Given the description of an element on the screen output the (x, y) to click on. 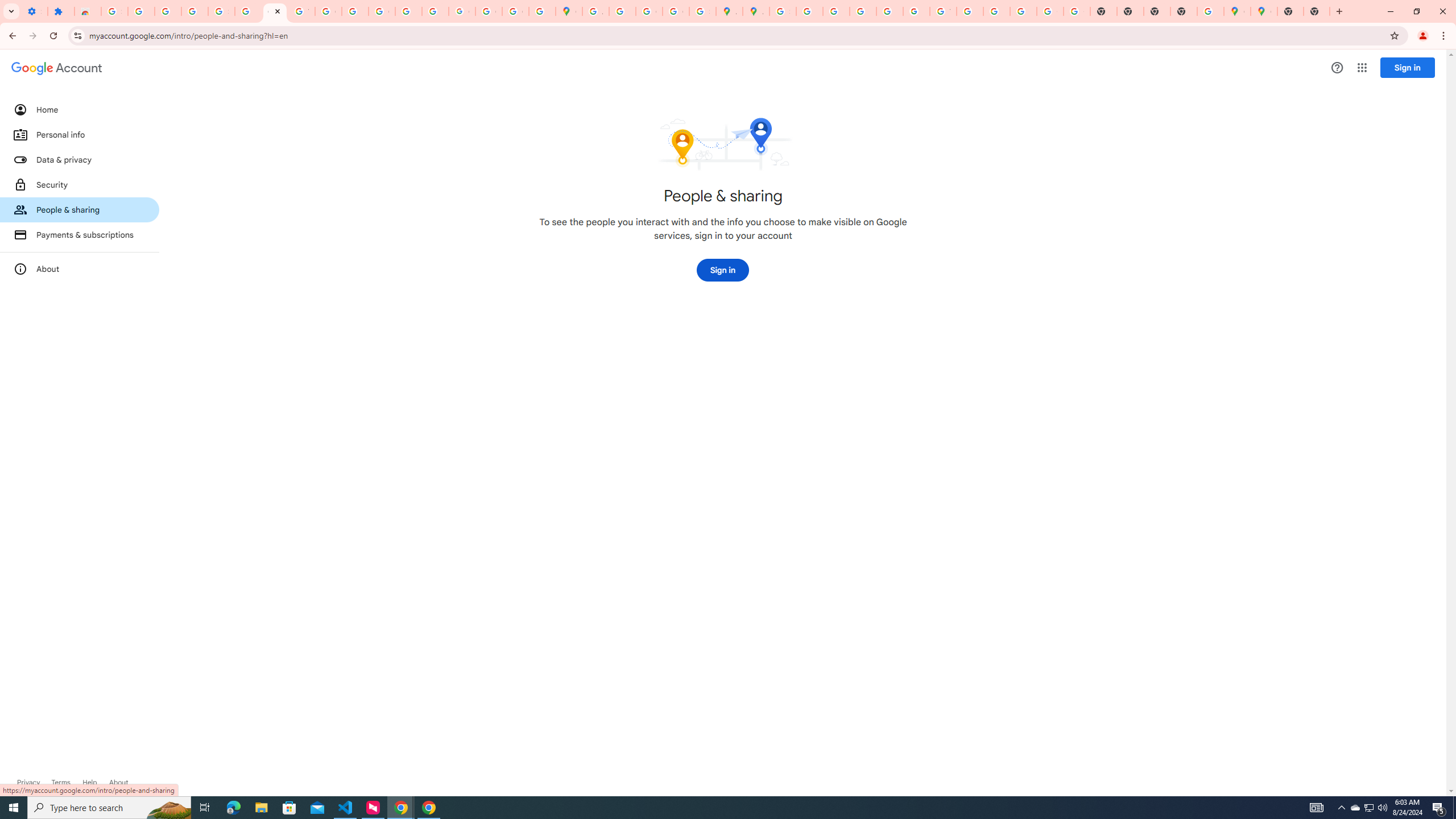
Privacy Help Center - Policies Help (836, 11)
https://scholar.google.com/ (355, 11)
YouTube (943, 11)
